Given the description of an element on the screen output the (x, y) to click on. 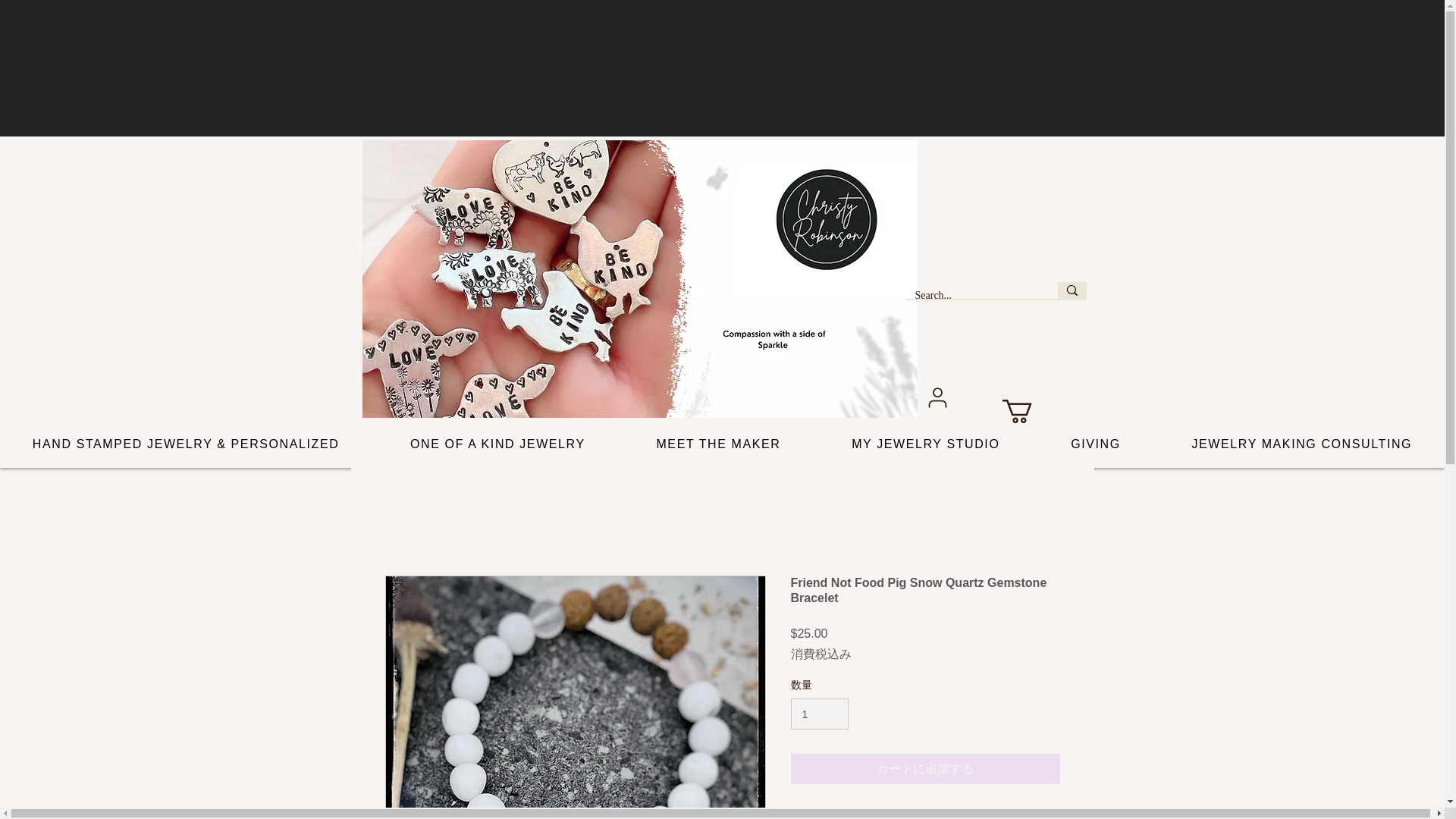
ONE OF A KIND JEWELRY (497, 444)
JEWELRY MAKING CONSULTING (1301, 444)
MY JEWELRY STUDIO (925, 444)
MEET THE MAKER (718, 444)
GIVING (1095, 444)
1 (818, 713)
